Given the description of an element on the screen output the (x, y) to click on. 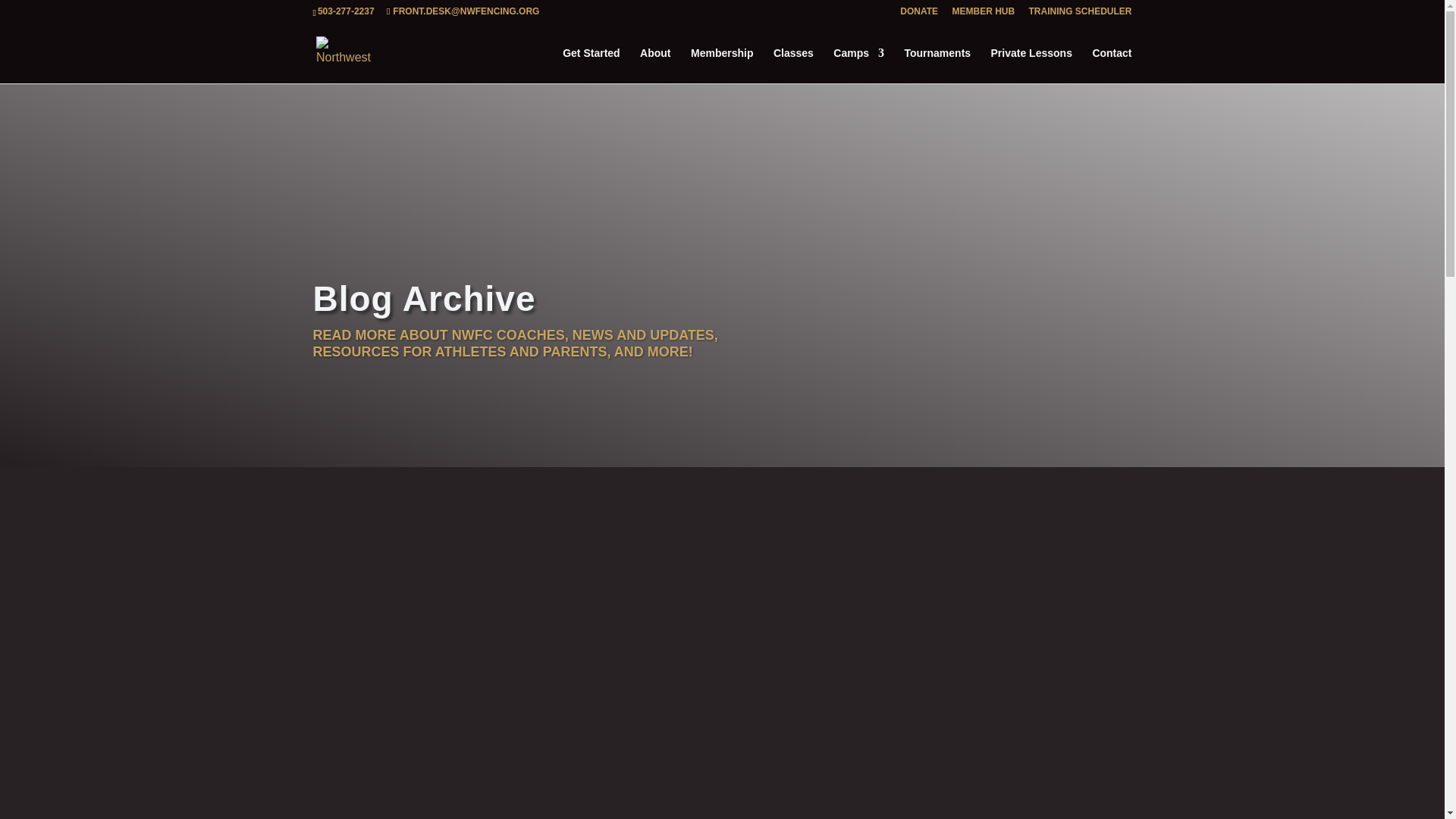
Contact (1111, 65)
Private Lessons (1031, 65)
Membership (721, 65)
MEMBER HUB (983, 14)
Tournaments (937, 65)
Camps (857, 65)
Classes (793, 65)
Get Started (591, 65)
DONATE (918, 14)
TRAINING SCHEDULER (1079, 14)
